Given the description of an element on the screen output the (x, y) to click on. 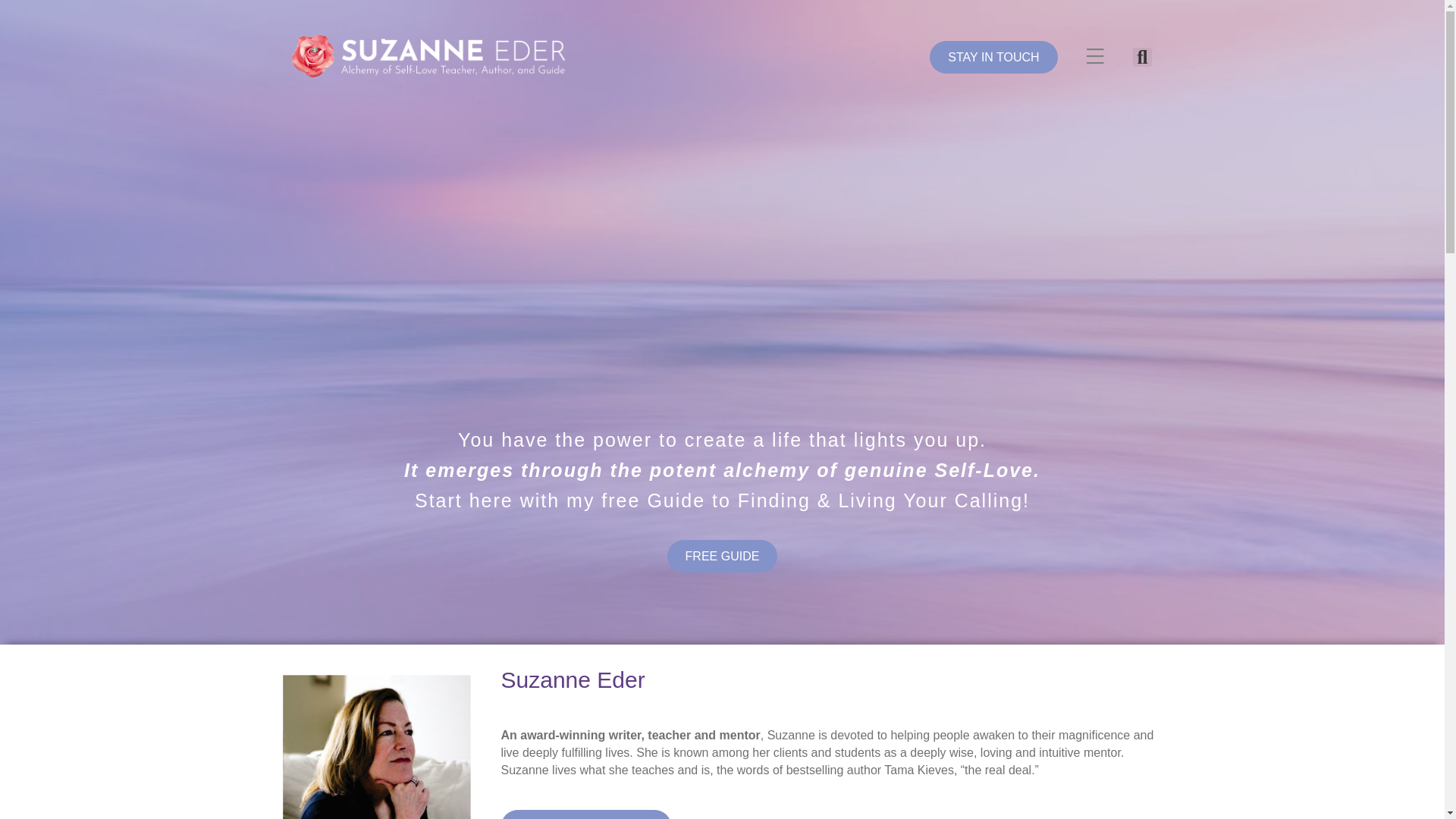
WORK WITH SUZANNE (584, 814)
STAY IN TOUCH (993, 56)
FREE GUIDE (721, 555)
Suzanne-Eder-Rose (424, 56)
suzanne-headshot-homepage (376, 746)
